Given the description of an element on the screen output the (x, y) to click on. 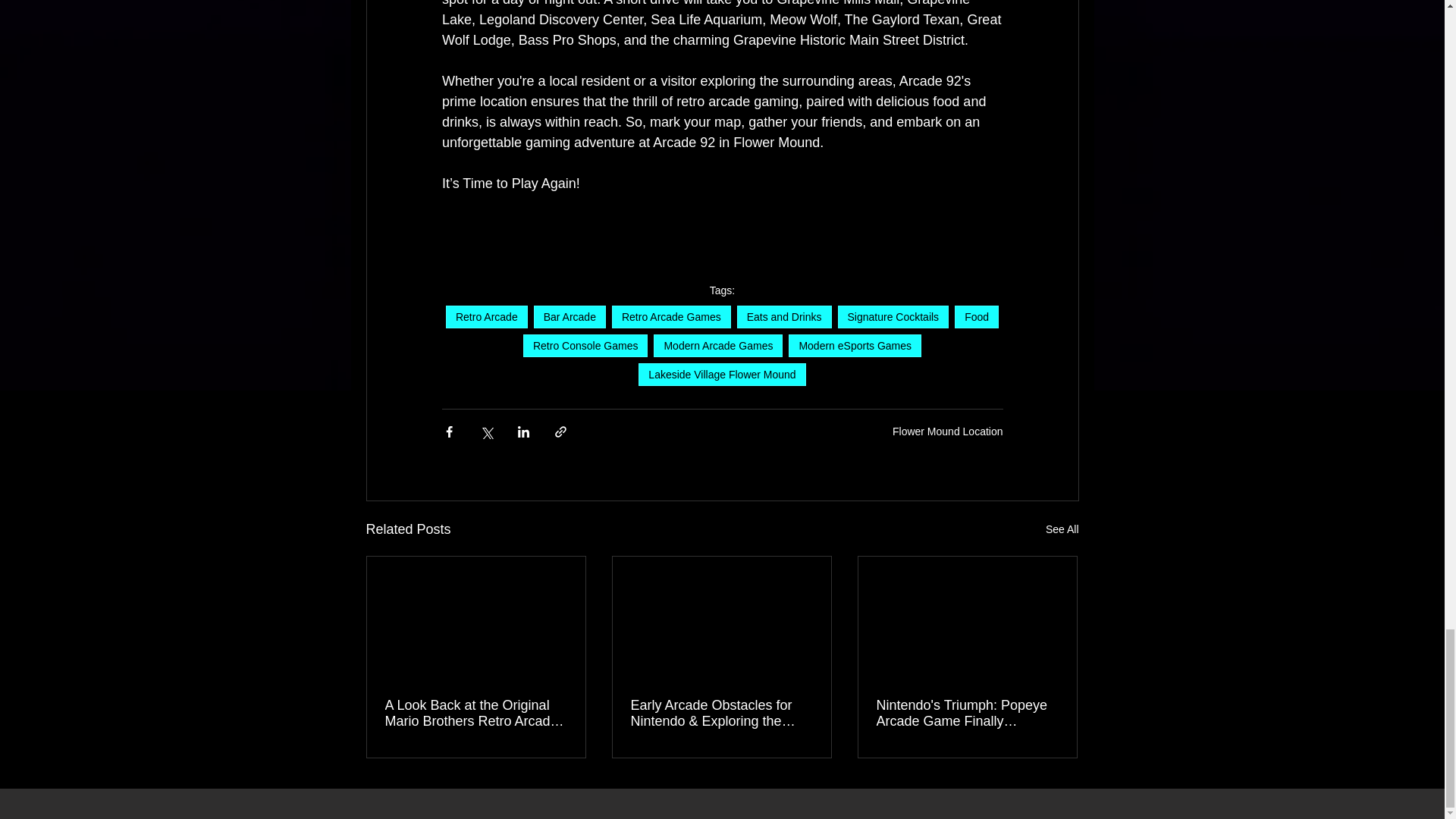
Food (976, 316)
Eats and Drinks (783, 316)
Retro Console Games (584, 345)
Retro Arcade (486, 316)
Lakeside Village Flower Mound (722, 374)
Signature Cocktails (893, 316)
Flower Mound Location (947, 431)
Retro Arcade Games (670, 316)
Modern eSports Games (855, 345)
Bar Arcade (569, 316)
See All (1061, 529)
Modern Arcade Games (718, 345)
